Given the description of an element on the screen output the (x, y) to click on. 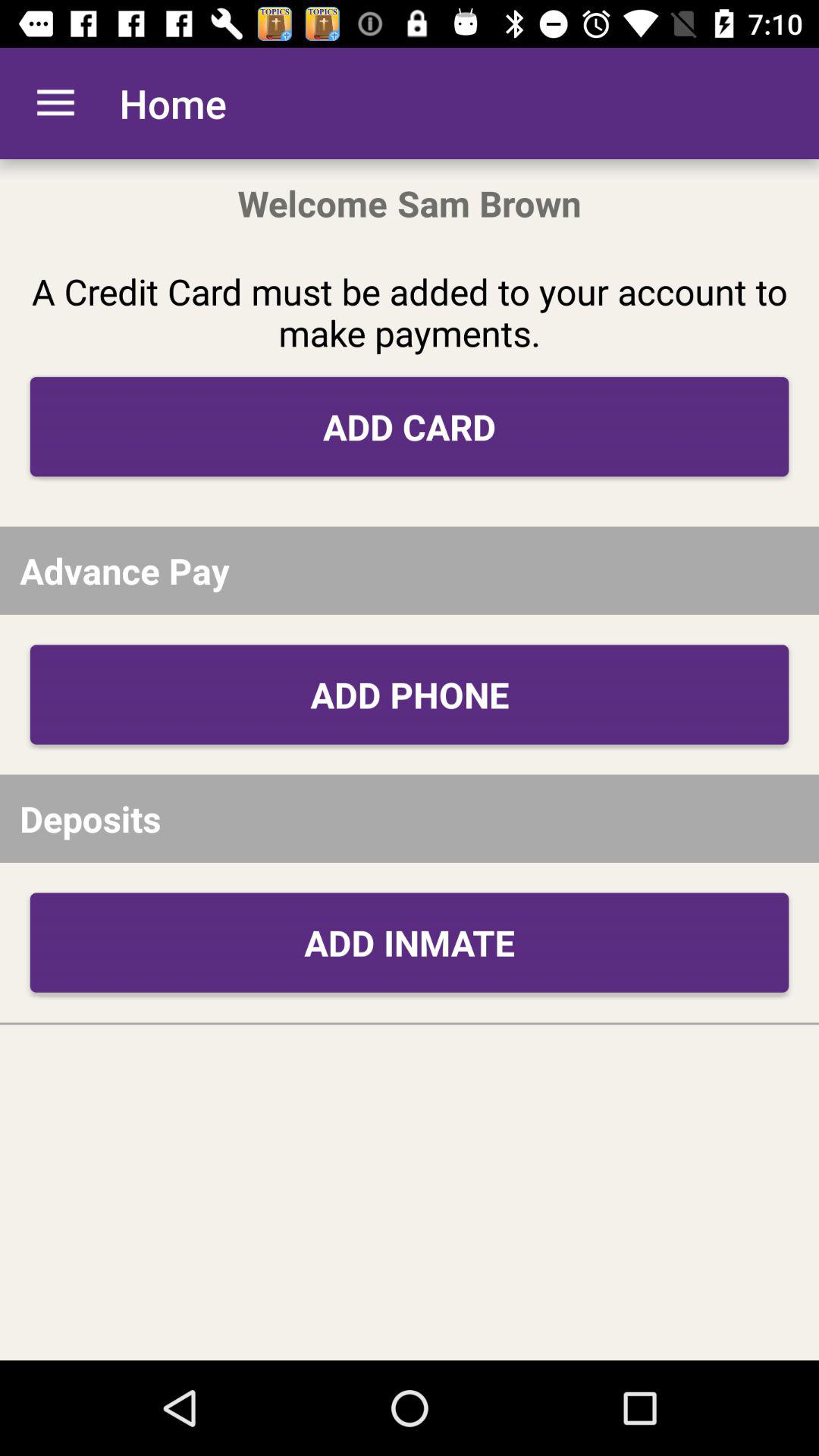
launch the icon below advance pay item (409, 694)
